Given the description of an element on the screen output the (x, y) to click on. 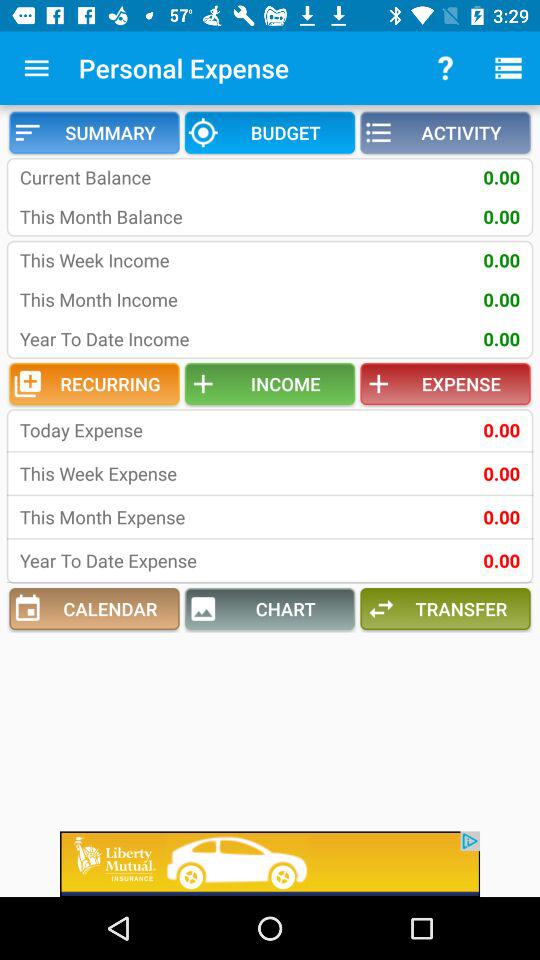
click the item next to the summary icon (269, 132)
